Given the description of an element on the screen output the (x, y) to click on. 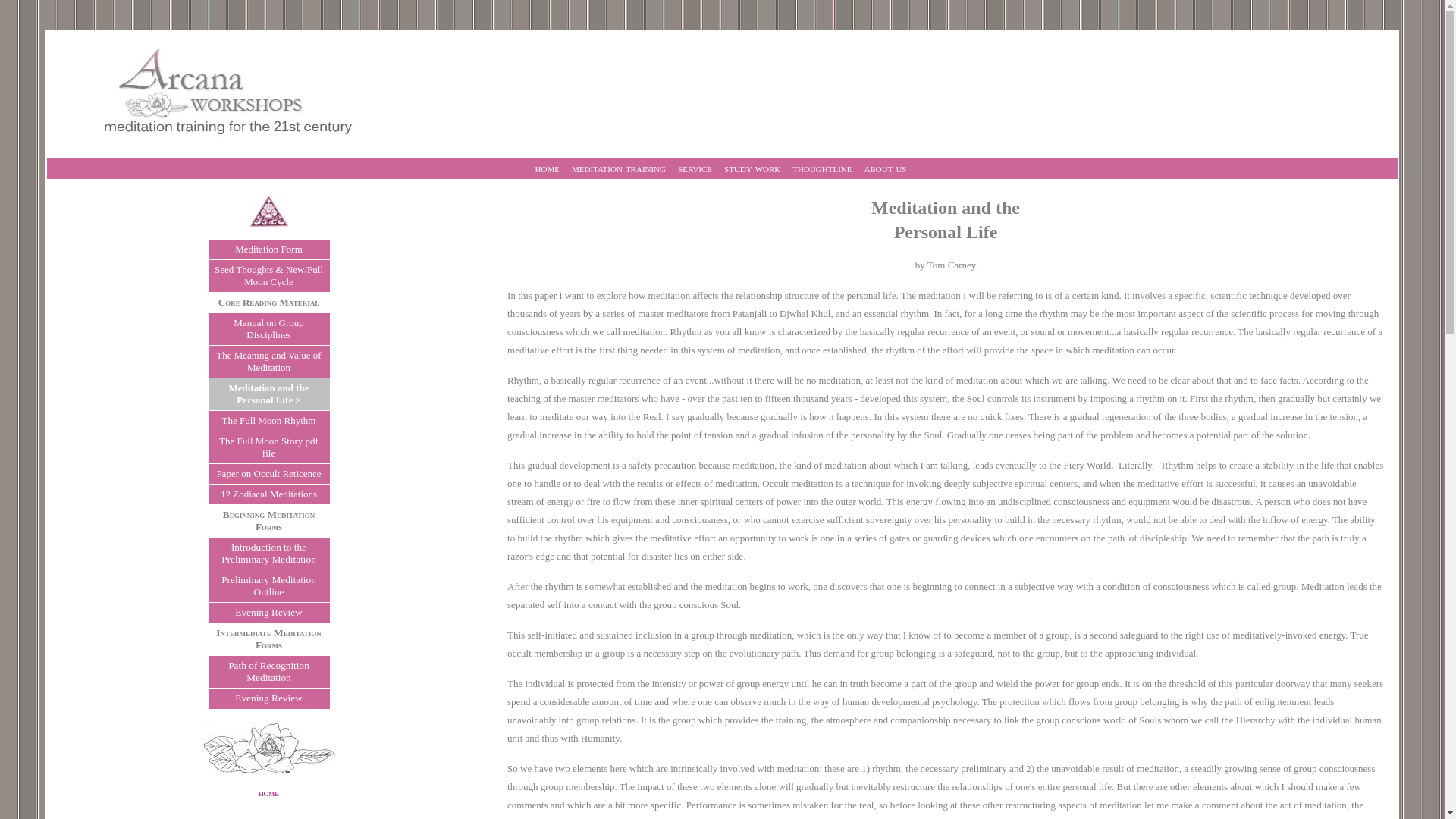
Meditation Form (267, 248)
Paper on Occult Reticence (267, 473)
The Meaning and Value of Meditation (267, 361)
The Full Moon Story pdf file (268, 446)
about us (885, 167)
Path of Recognition Meditation (268, 671)
meditation training (618, 167)
Manual on Group Disciplines (267, 328)
study work (751, 167)
home (547, 167)
